Given the description of an element on the screen output the (x, y) to click on. 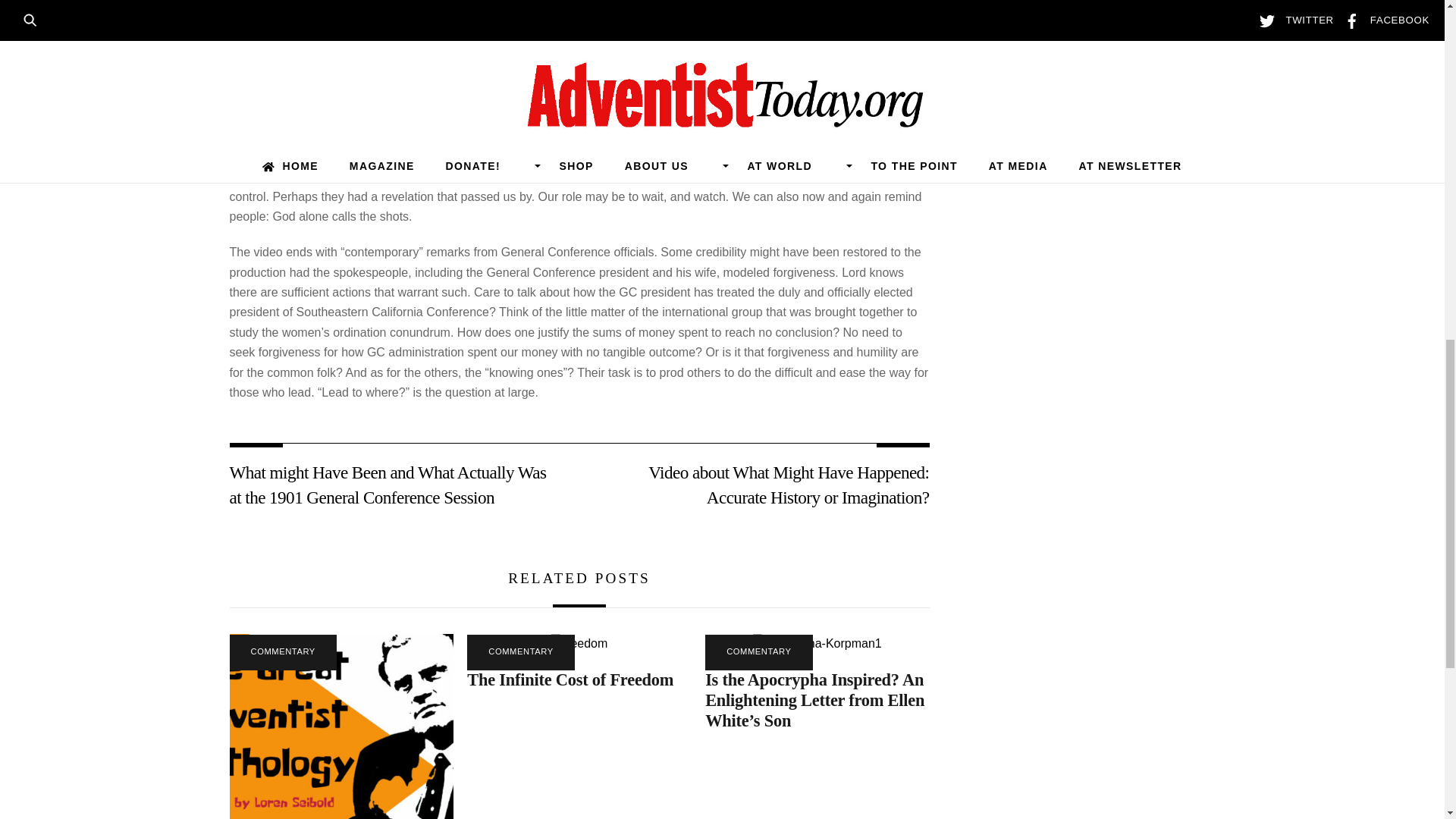
The Infinite Cost of Freedom (569, 679)
COMMENTARY (520, 652)
apocrypha-Korpman1 (817, 643)
COMMENTARY (282, 652)
mythology2 (340, 726)
freedom (579, 643)
